Given the description of an element on the screen output the (x, y) to click on. 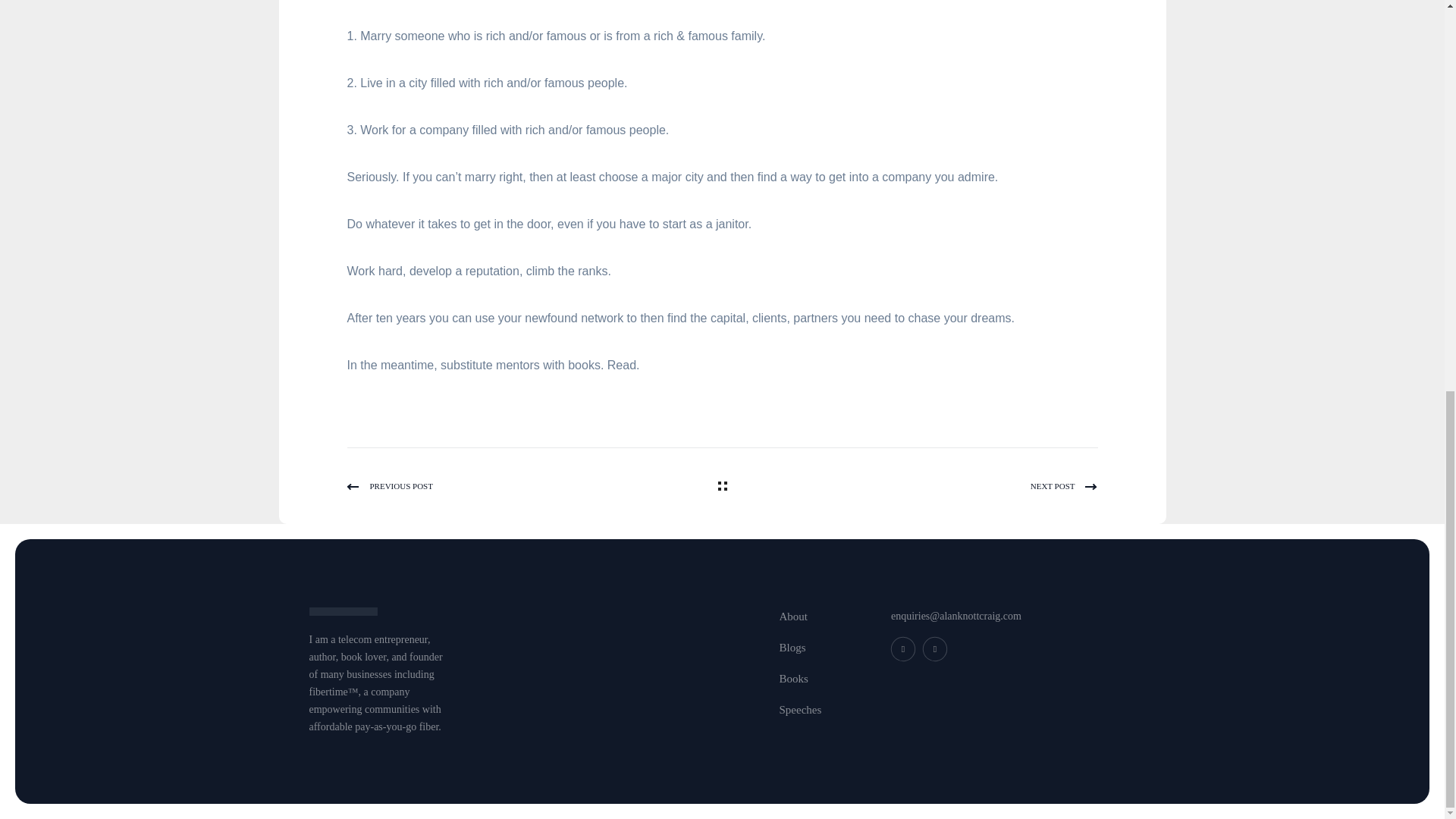
NEXT POST (913, 485)
PREVIOUS POST (530, 485)
Speeches (800, 710)
Books (793, 678)
About (793, 616)
Blogs (792, 647)
